Given the description of an element on the screen output the (x, y) to click on. 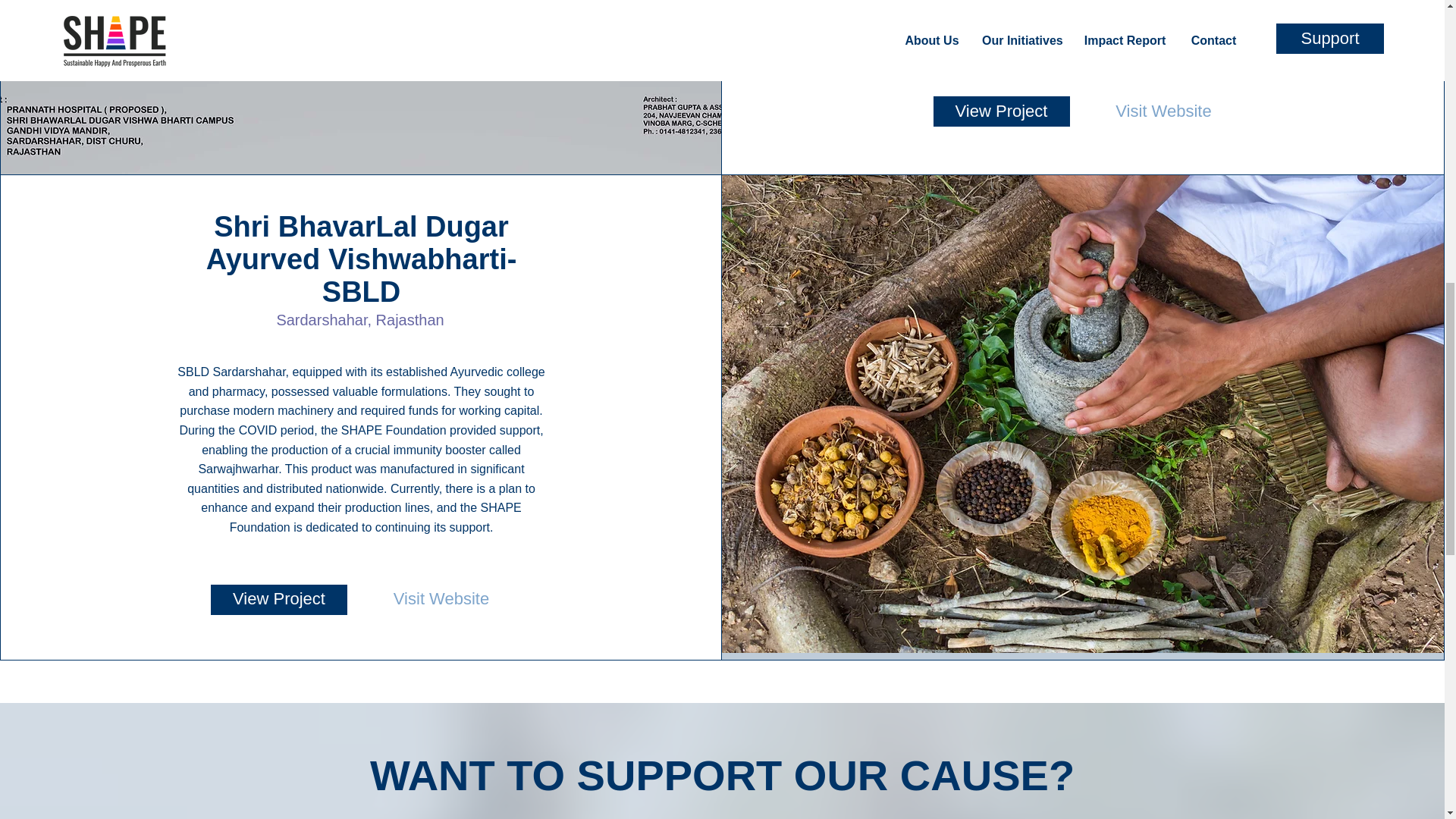
View Project (1001, 111)
Visit Website (1163, 111)
